Given the description of an element on the screen output the (x, y) to click on. 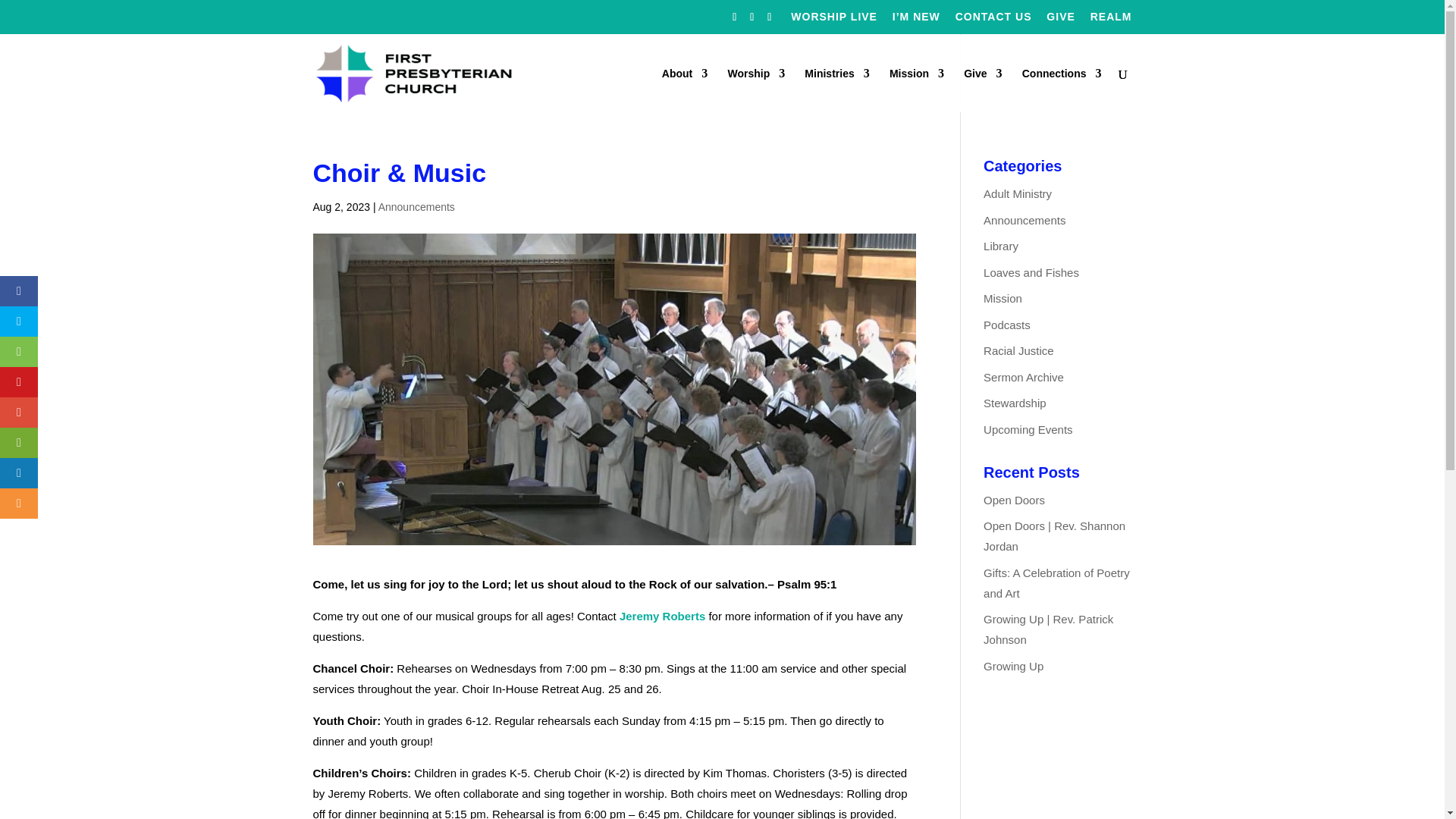
GIVE (1060, 19)
REALM (1111, 19)
Worship (755, 89)
Ministries (837, 89)
CONTACT US (993, 19)
About (684, 89)
WORSHIP LIVE (833, 19)
Mission (916, 89)
